Given the description of an element on the screen output the (x, y) to click on. 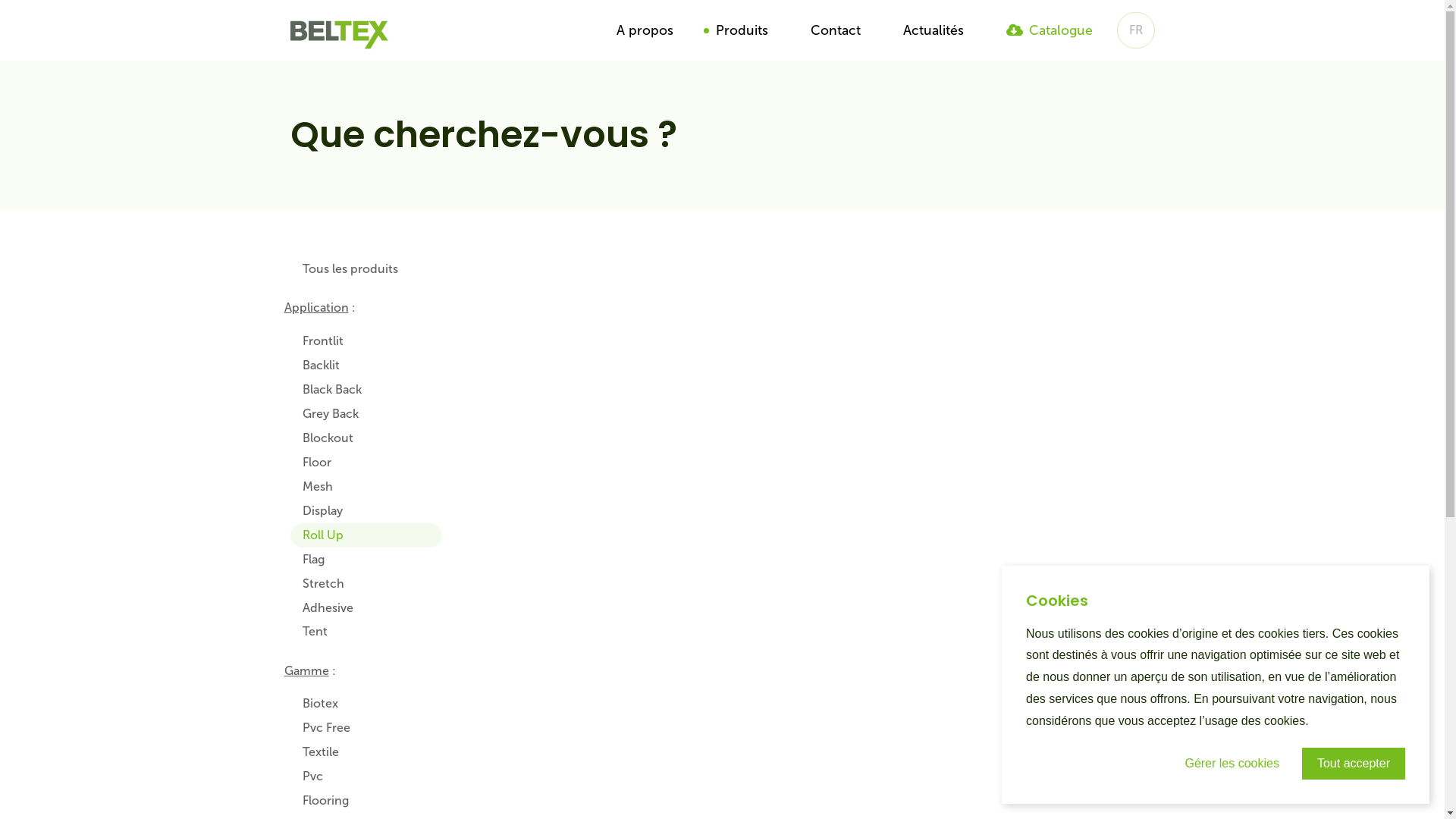
Roll Up Element type: text (365, 535)
Black Back Element type: text (365, 389)
Display Element type: text (365, 510)
Flooring Element type: text (365, 800)
Backlit Element type: text (365, 365)
Pvc Free Element type: text (365, 727)
Catalogue Element type: text (1048, 30)
Contact Element type: text (834, 30)
Textile Element type: text (365, 752)
Flag Element type: text (365, 559)
A propos Element type: text (643, 30)
Stretch Element type: text (365, 583)
Produits Element type: text (741, 30)
Biotex Element type: text (365, 703)
Tout accepter Element type: text (1353, 763)
Blockout Element type: text (365, 438)
Mesh Element type: text (365, 486)
Floor Element type: text (365, 462)
Frontlit Element type: text (365, 341)
Tous les produits Element type: text (365, 269)
Grey Back Element type: text (365, 413)
Tent Element type: text (365, 632)
Adhesive Element type: text (365, 608)
Pvc Element type: text (365, 776)
